Given the description of an element on the screen output the (x, y) to click on. 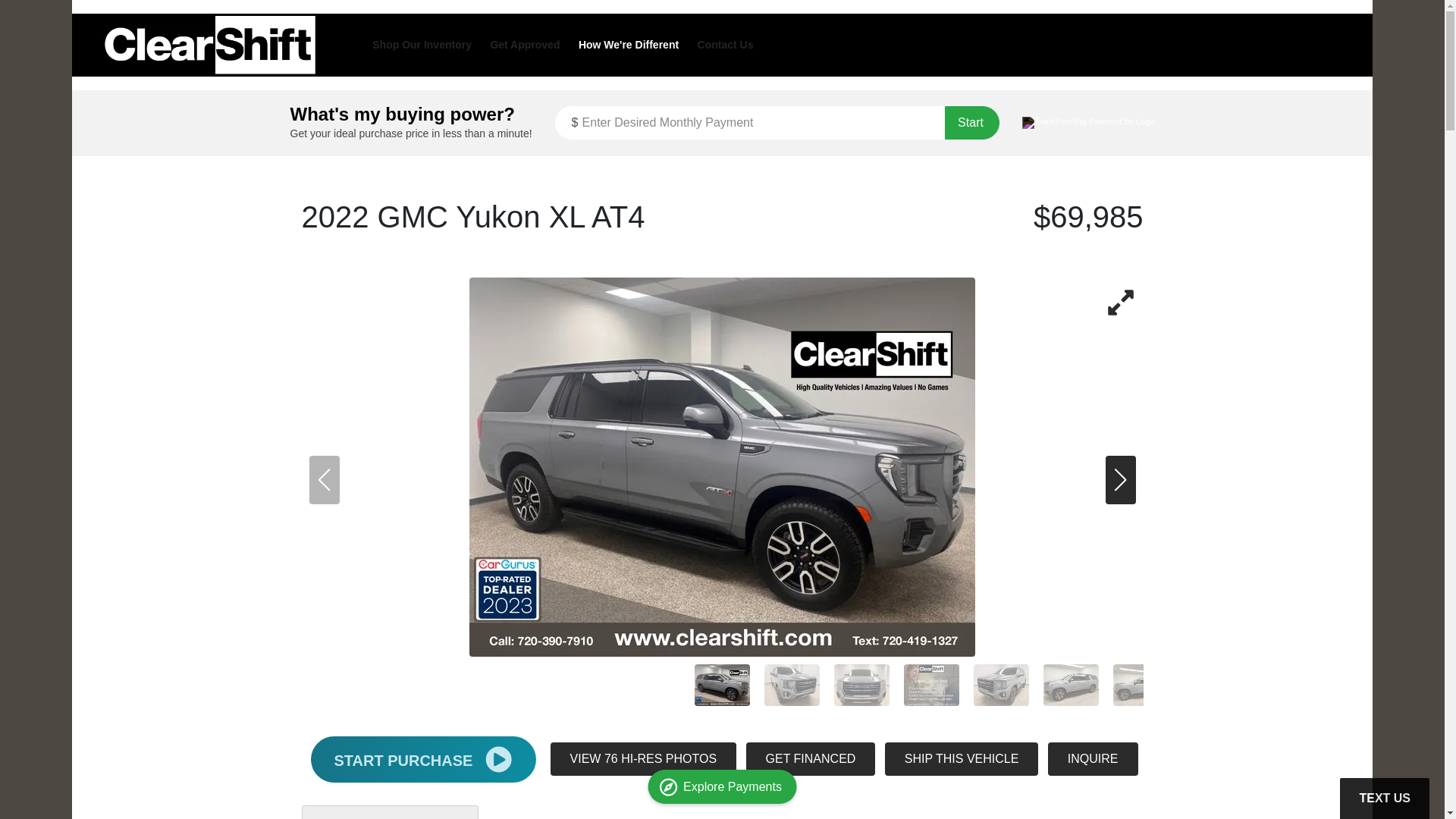
VIEW 76 HI-RES PHOTOS (643, 758)
How We're Different (628, 44)
Start (971, 122)
START PURCHASE (423, 758)
GET FINANCED (810, 758)
Get Approved (524, 44)
Get Pre-qualified powered by Capital One (721, 812)
INQUIRE (1093, 758)
SHIP THIS VEHICLE (962, 758)
Contact Us (725, 44)
Shop Our Inventory (421, 44)
